Given the description of an element on the screen output the (x, y) to click on. 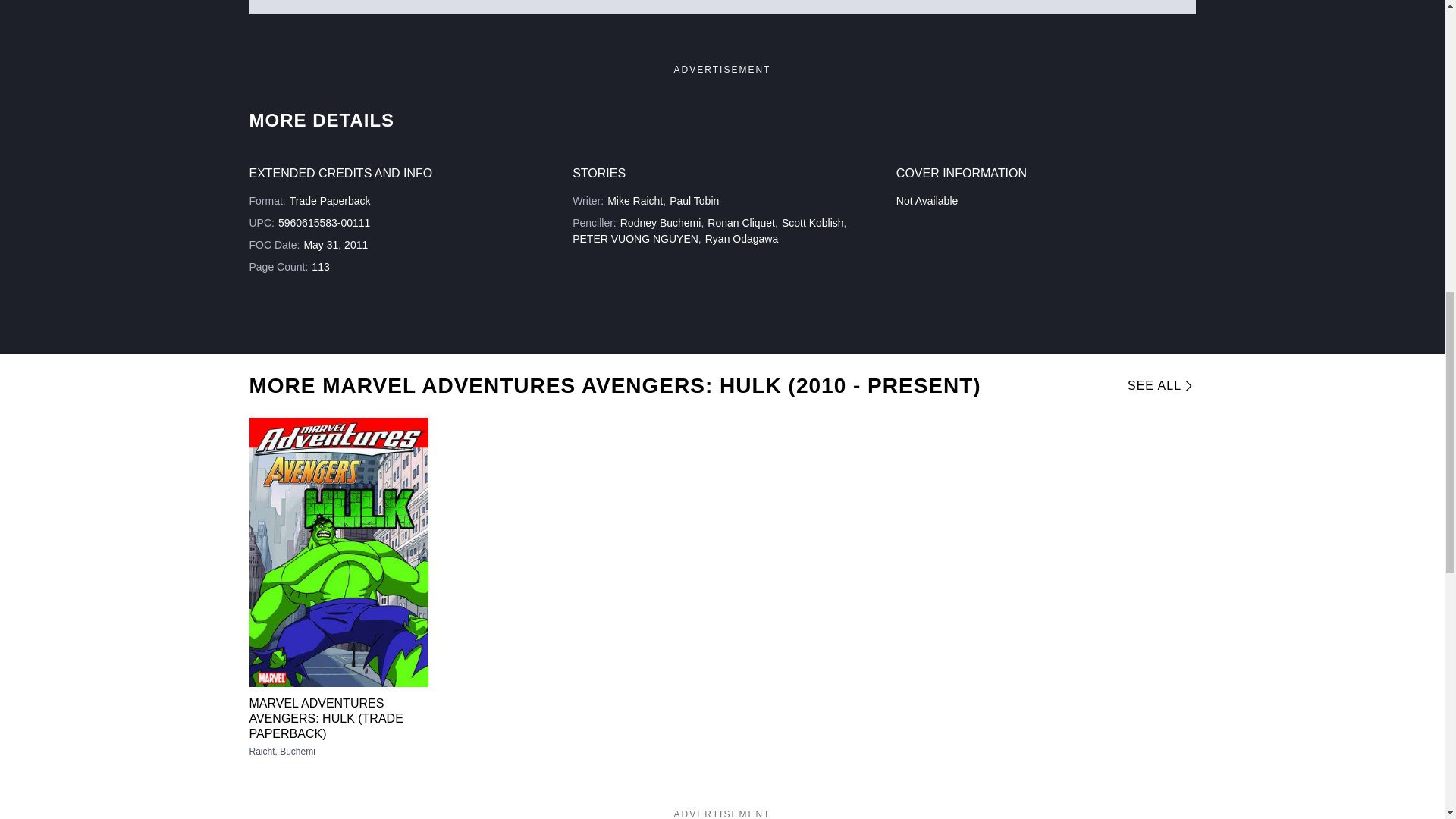
PETER VUONG NGUYEN (635, 238)
Paul Tobin (694, 200)
Scott Koblish (812, 223)
Ronan Cliquet (740, 223)
SEE ALL (1156, 385)
Rodney Buchemi (660, 223)
Ryan Odagawa (741, 238)
Raicht (263, 751)
Mike Raicht (634, 200)
